Given the description of an element on the screen output the (x, y) to click on. 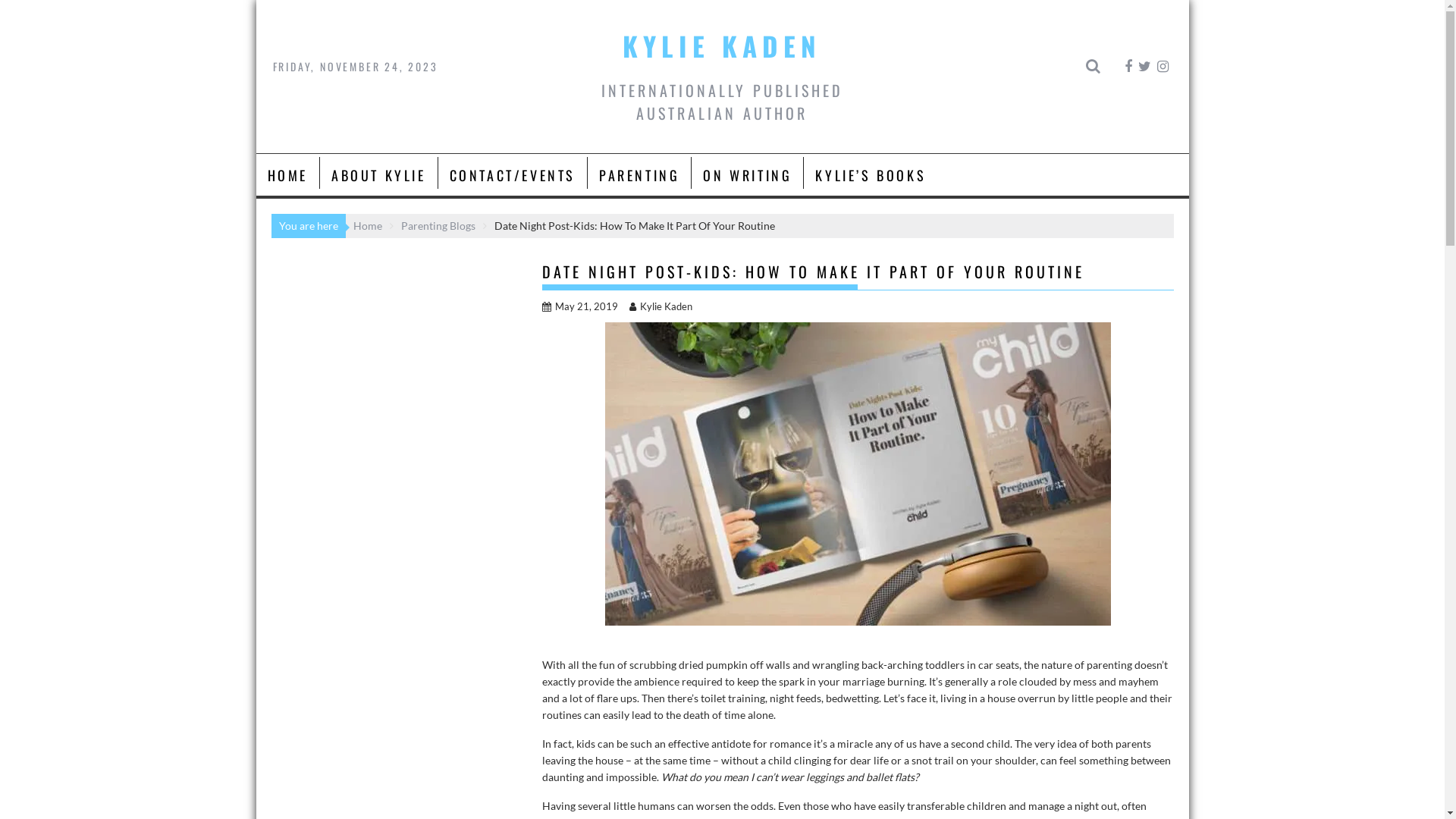
ABOUT KYLIE Element type: text (378, 174)
CONTACT/EVENTS Element type: text (512, 174)
KYLIE KADEN Element type: text (721, 45)
HOME Element type: text (287, 174)
PARENTING Element type: text (638, 174)
Parenting Blogs Element type: text (437, 225)
May 21, 2019 Element type: text (579, 306)
Home Element type: text (367, 225)
ON WRITING Element type: text (747, 174)
Kylie Kaden Element type: text (660, 306)
